Given the description of an element on the screen output the (x, y) to click on. 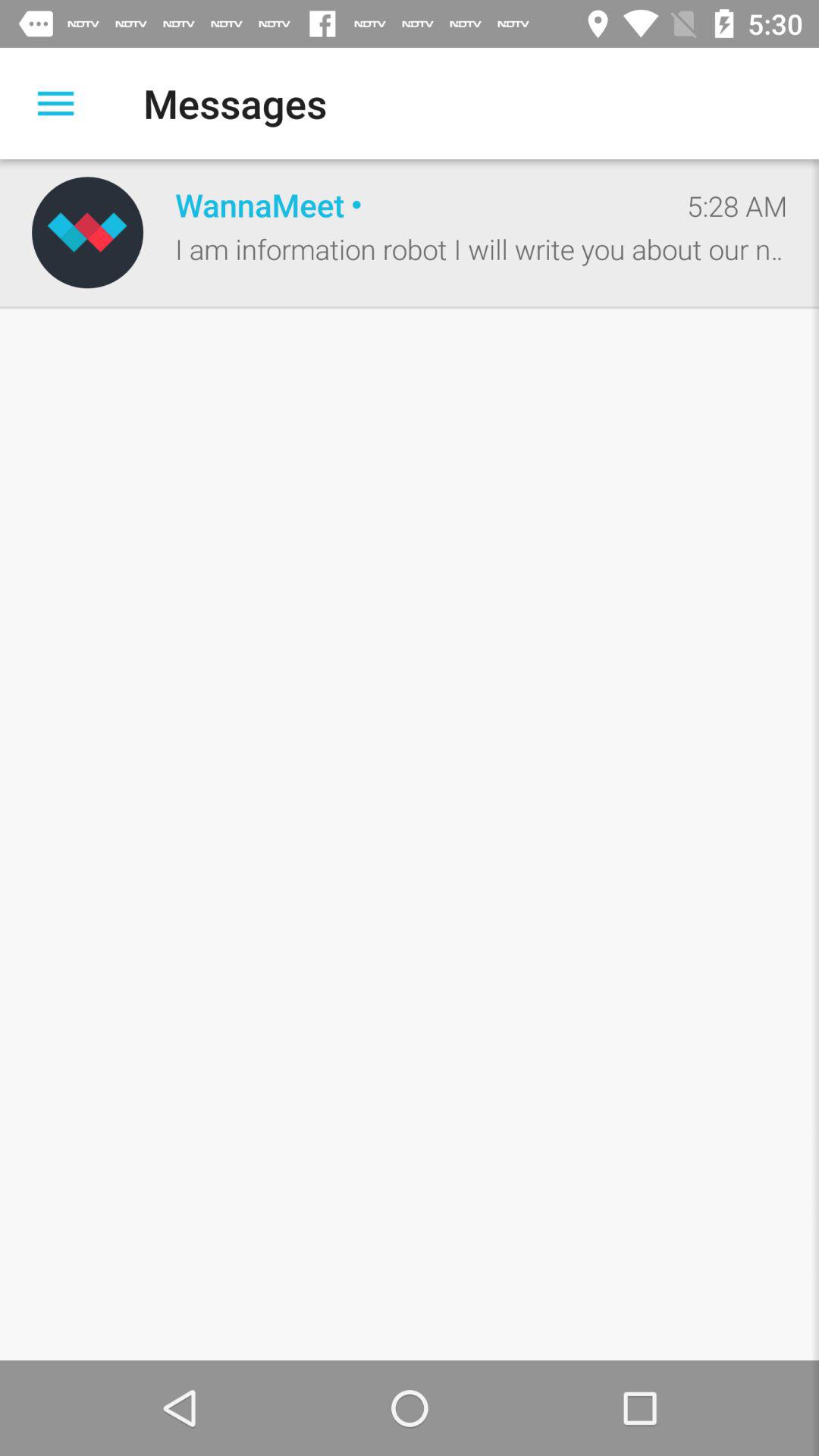
press the icon to the left of the messages icon (55, 103)
